Given the description of an element on the screen output the (x, y) to click on. 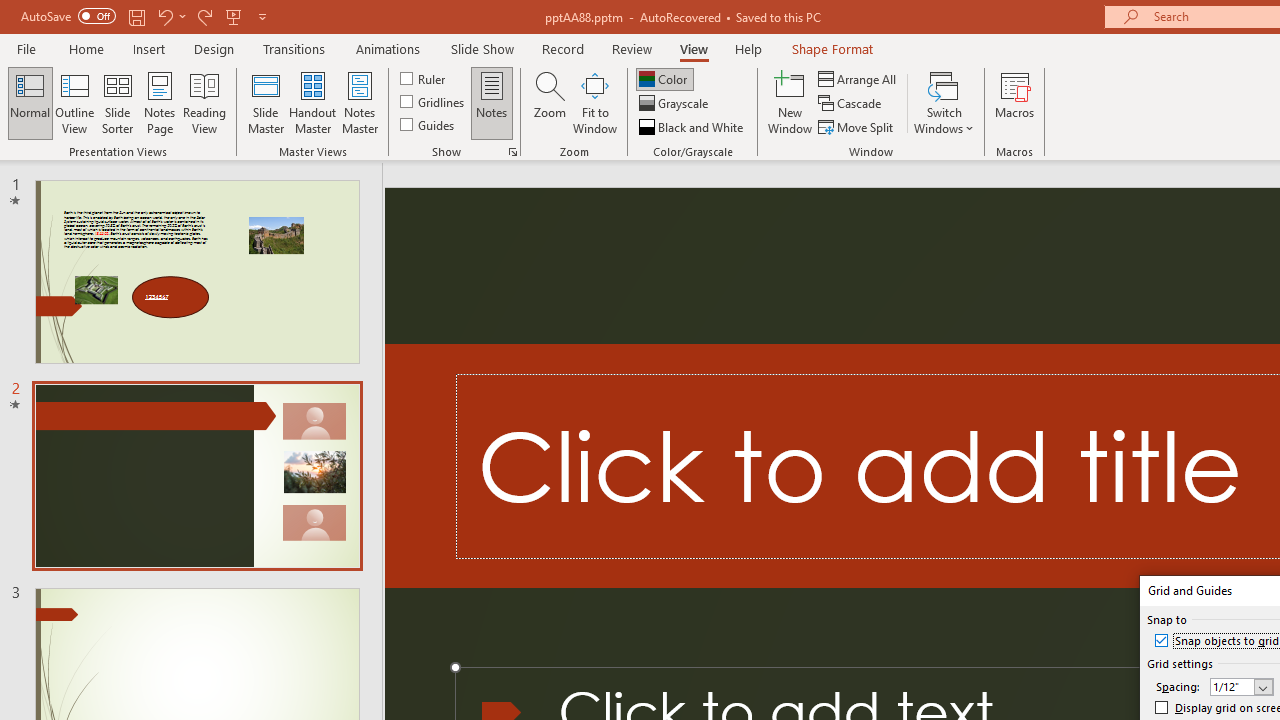
Fit to Window (594, 102)
Black and White (693, 126)
Grayscale (675, 103)
Notes Master (360, 102)
Move Split (857, 126)
